Given the description of an element on the screen output the (x, y) to click on. 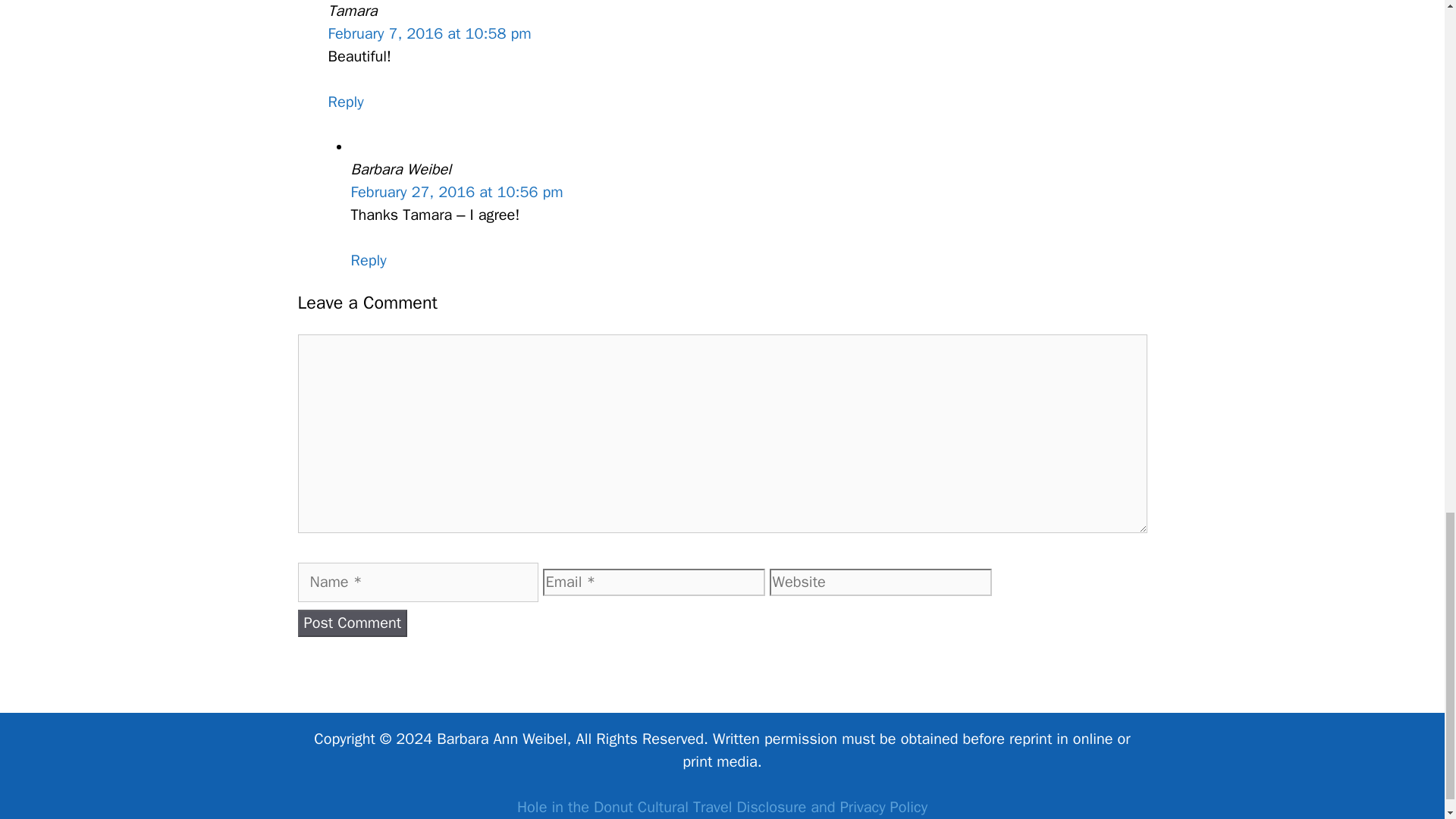
Post Comment (352, 623)
Post Comment (352, 623)
Reply (344, 101)
February 27, 2016 at 10:56 pm (456, 191)
February 7, 2016 at 10:58 pm (429, 33)
Reply (367, 260)
